Given the description of an element on the screen output the (x, y) to click on. 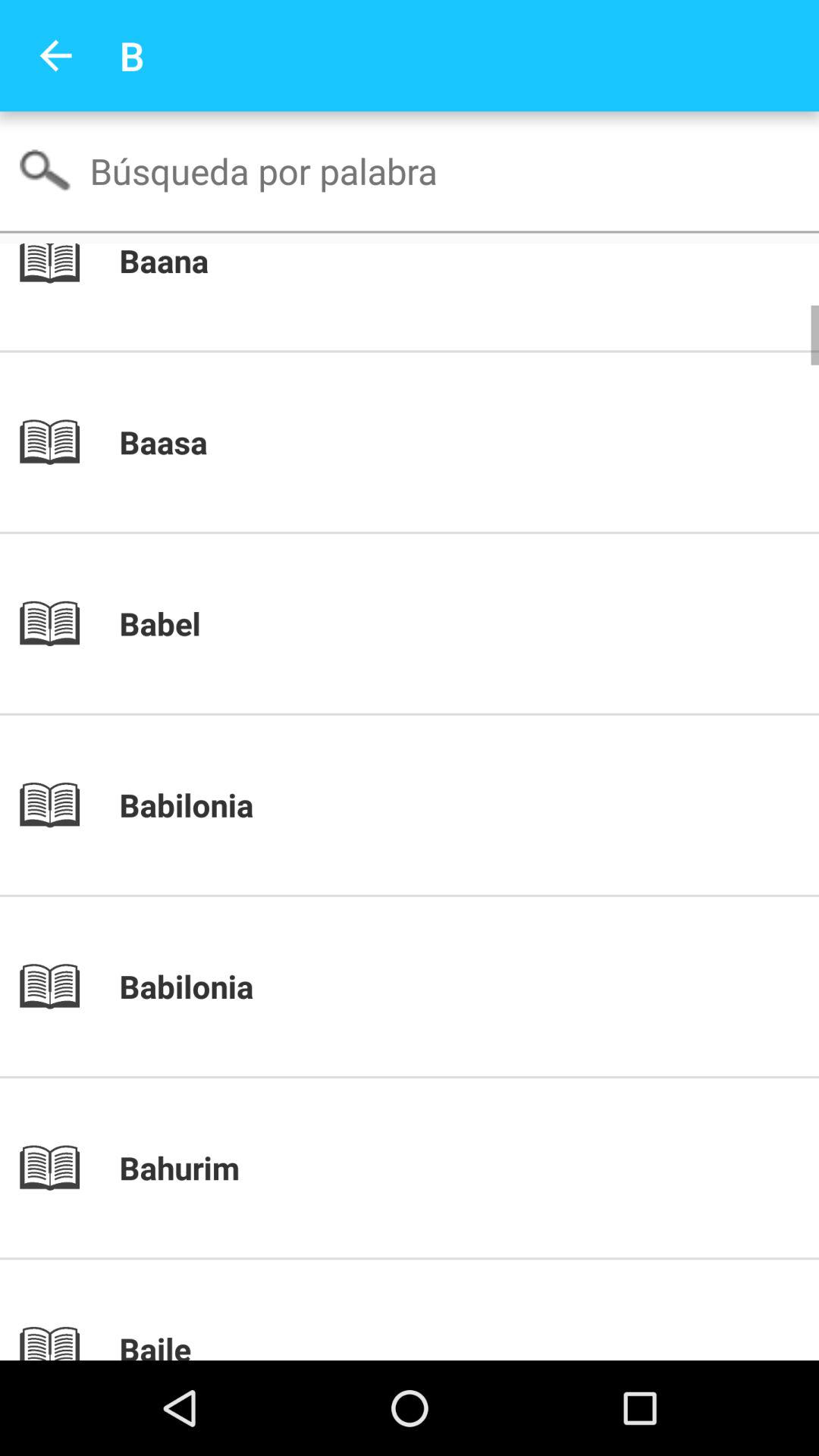
scroll to bahurim (435, 1167)
